Given the description of an element on the screen output the (x, y) to click on. 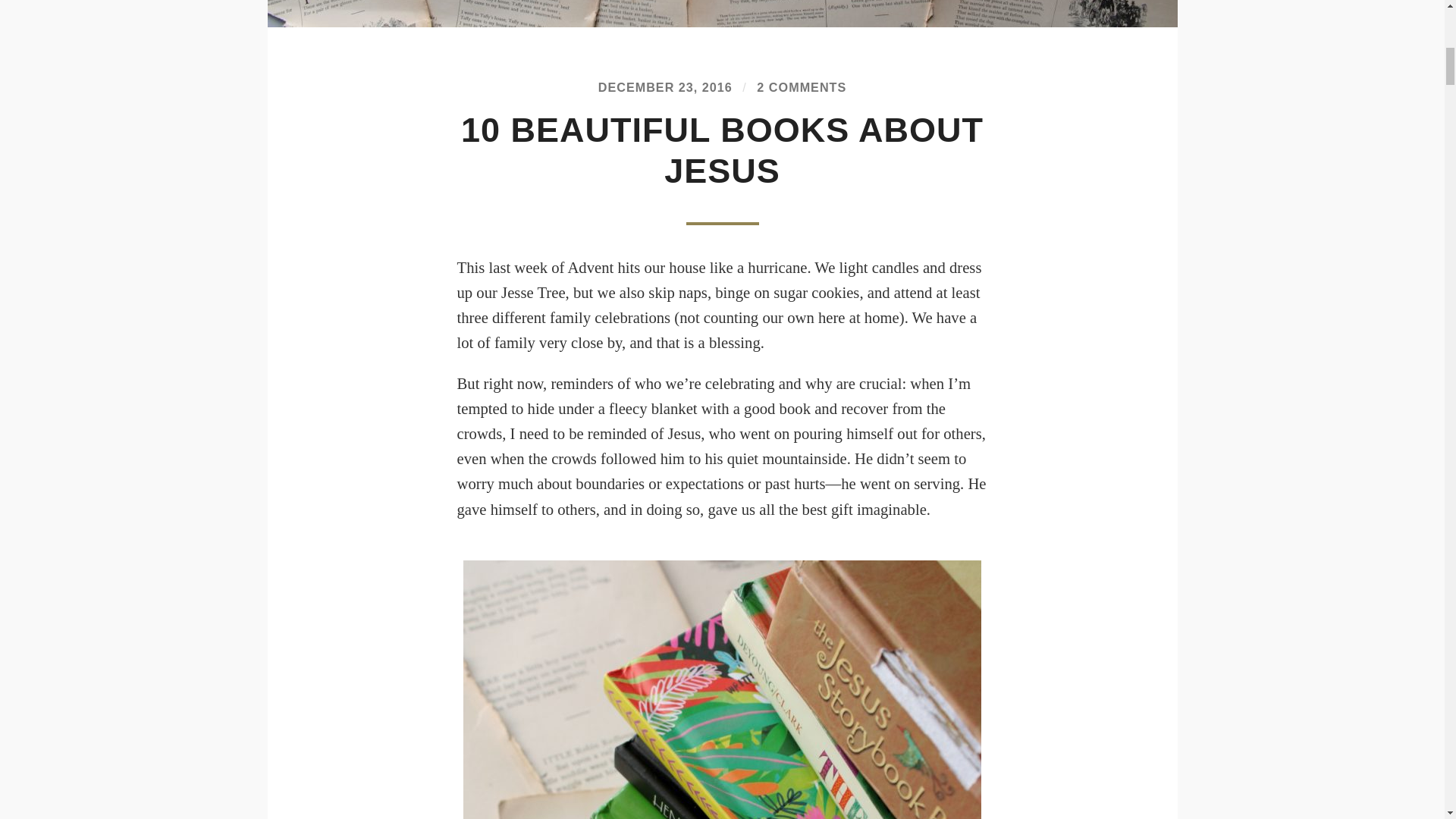
2 COMMENTS (801, 87)
DECEMBER 23, 2016 (665, 87)
10 BEAUTIFUL BOOKS ABOUT JESUS (722, 150)
